Given the description of an element on the screen output the (x, y) to click on. 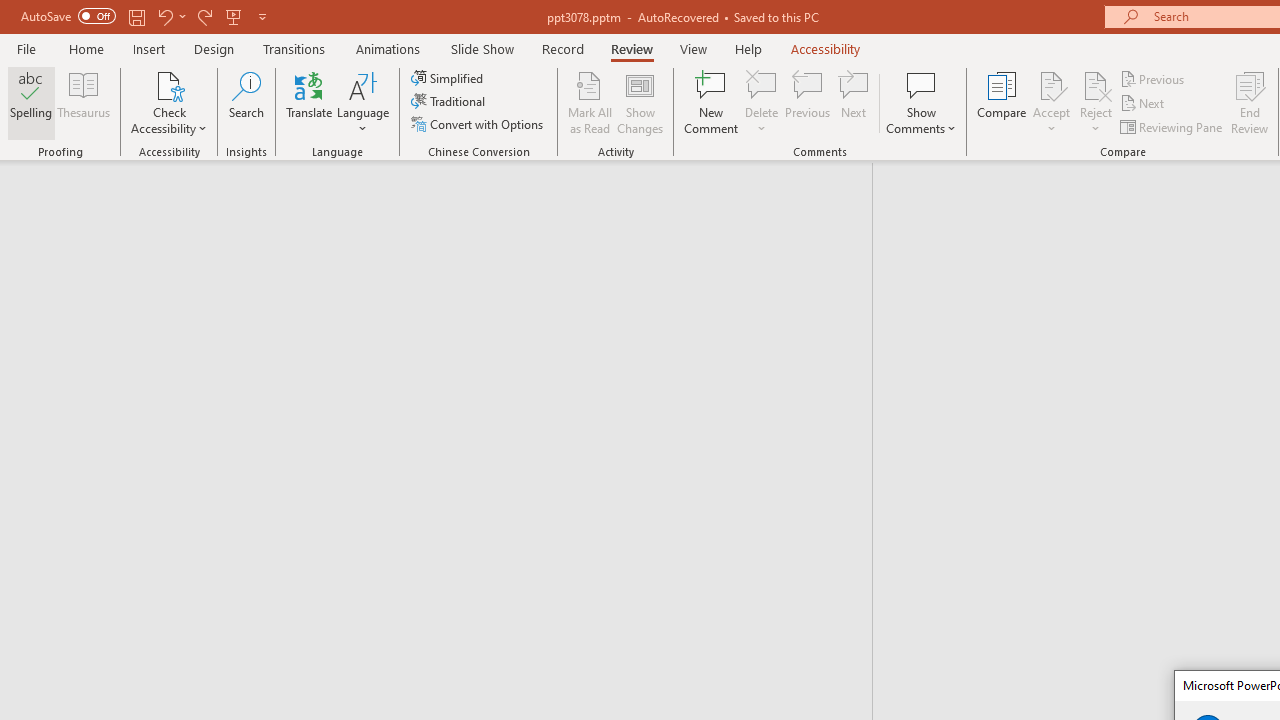
Delete (762, 84)
Thesaurus... (83, 102)
Accept Change (1051, 84)
View (693, 48)
AutoSave (68, 16)
File Tab (26, 48)
Customize Quick Access Toolbar (262, 15)
Previous (1153, 78)
Show Comments (921, 84)
Animations (388, 48)
